Given the description of an element on the screen output the (x, y) to click on. 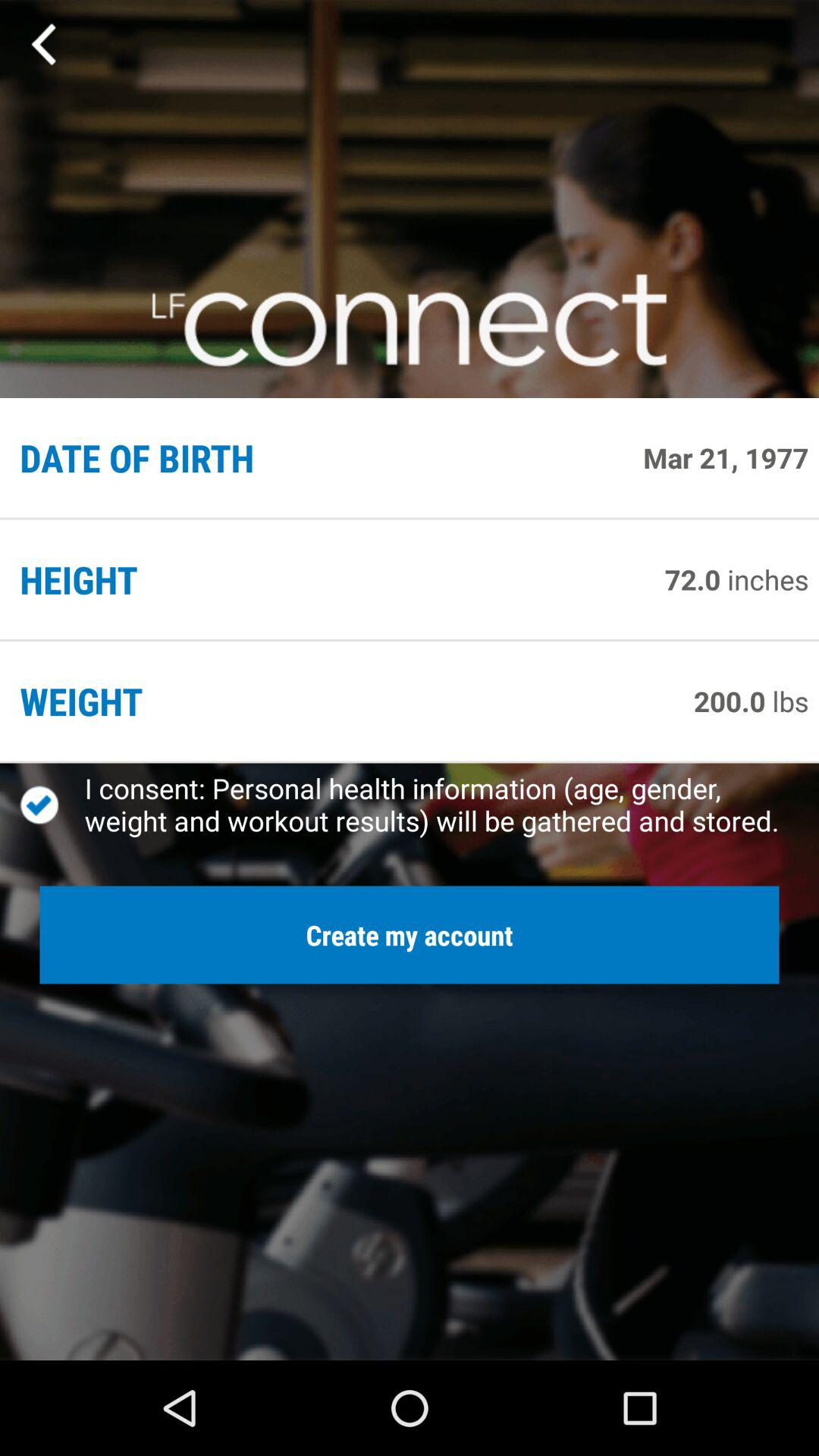
check box to consent to data collection (51, 804)
